Given the description of an element on the screen output the (x, y) to click on. 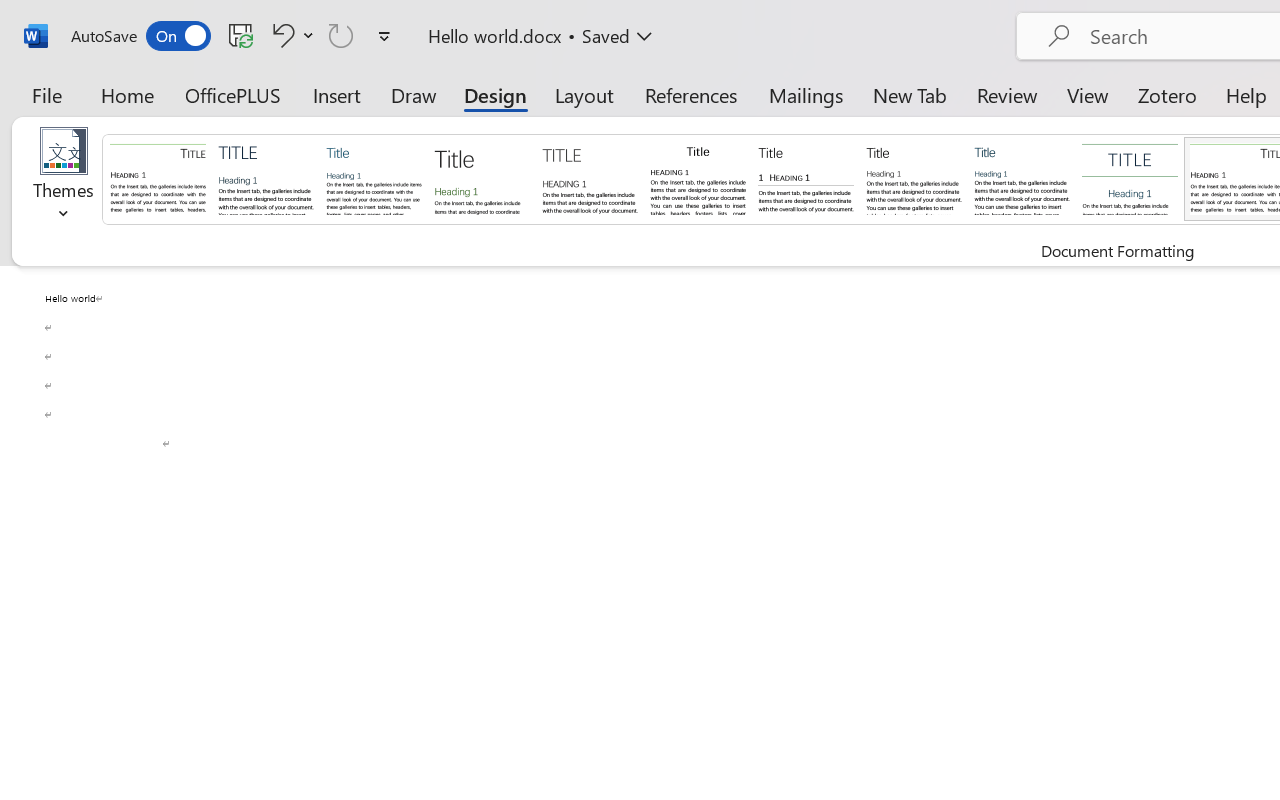
Casual (1021, 178)
Undo Apply Quick Style Set (280, 35)
Undo Apply Quick Style Set (290, 35)
AutoSave (140, 35)
Basic (Stylish) (481, 178)
Customize Quick Access Toolbar (384, 35)
More Options (308, 35)
Save (241, 35)
Basic (Simple) (373, 178)
Zotero (1166, 94)
Black & White (Word 2013) (913, 178)
Home (127, 94)
File Tab (46, 94)
Black & White (Numbered) (806, 178)
